Given the description of an element on the screen output the (x, y) to click on. 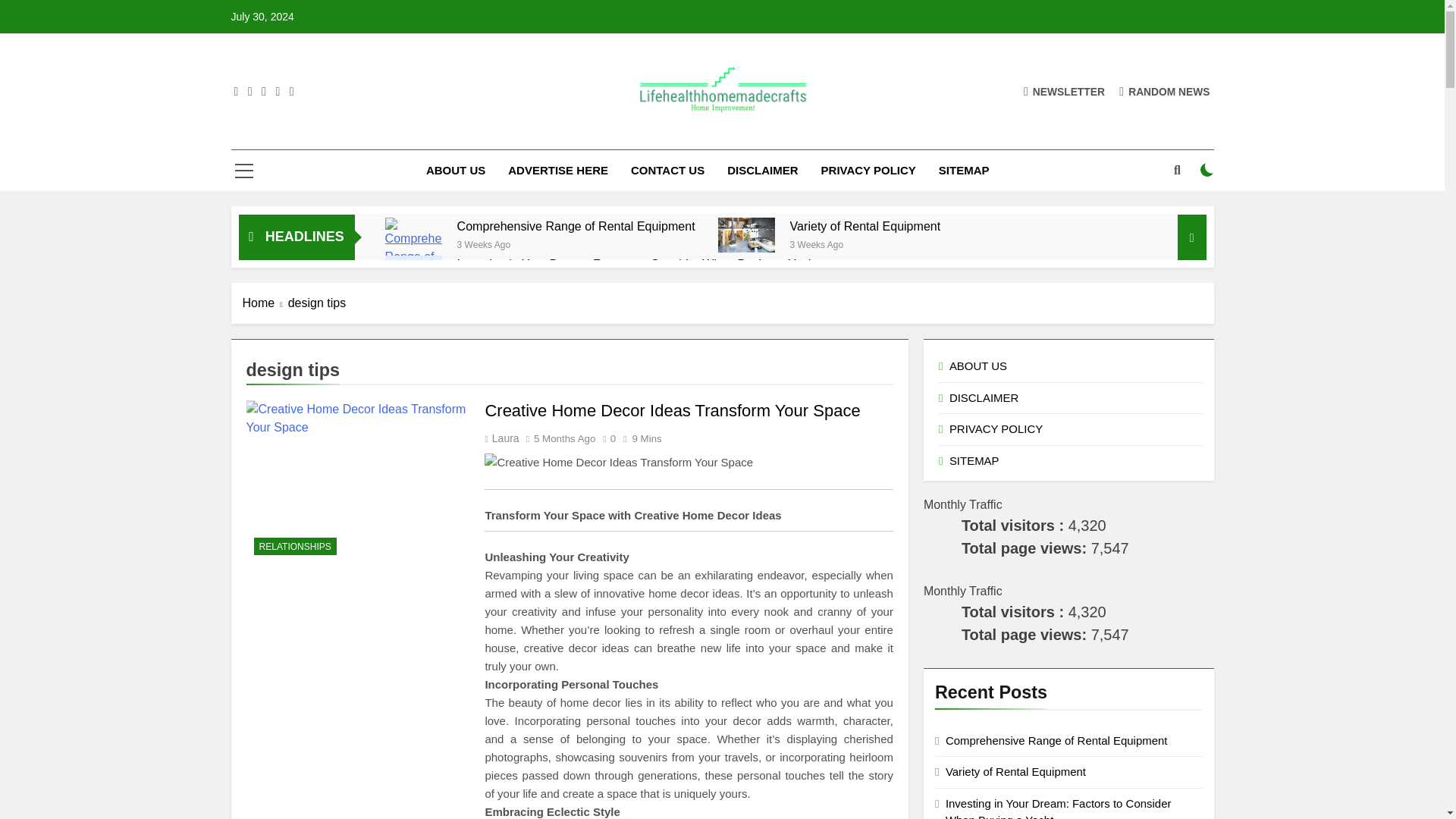
CONTACT US (668, 169)
3 Weeks Ago (484, 243)
SITEMAP (964, 169)
Variety of Rental Equipment (745, 234)
Comprehensive Range of Rental Equipment (576, 226)
Lifehealthhomemadecrafts (676, 135)
ADVERTISE HERE (558, 169)
on (1206, 169)
Comprehensive Range of Rental Equipment (576, 226)
Variety of Rental Equipment (865, 226)
PRIVACY POLICY (868, 169)
Variety of Rental Equipment (865, 226)
